Given the description of an element on the screen output the (x, y) to click on. 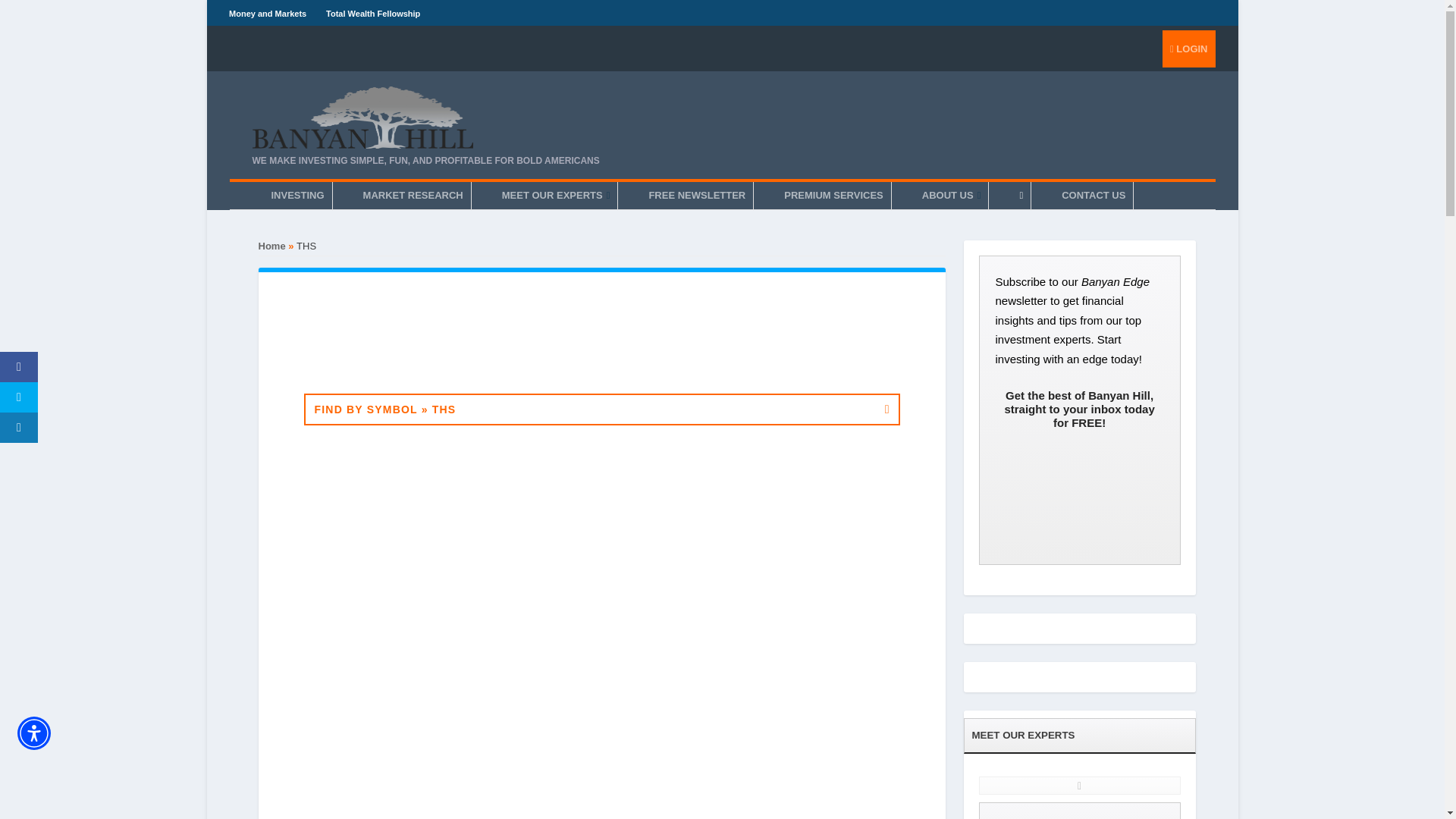
FREE NEWSLETTER (696, 195)
MARKET RESEARCH (412, 195)
Market Research (412, 195)
INVESTING (297, 195)
Home (271, 245)
ABOUT US (951, 195)
PREMIUM SERVICES (833, 195)
s-tradingview (600, 710)
MEET OUR EXPERTS (556, 195)
s-tradingview (600, 513)
Total Wealth Fellowship (373, 13)
Money and Markets (266, 13)
Accessibility Menu (33, 733)
